Given the description of an element on the screen output the (x, y) to click on. 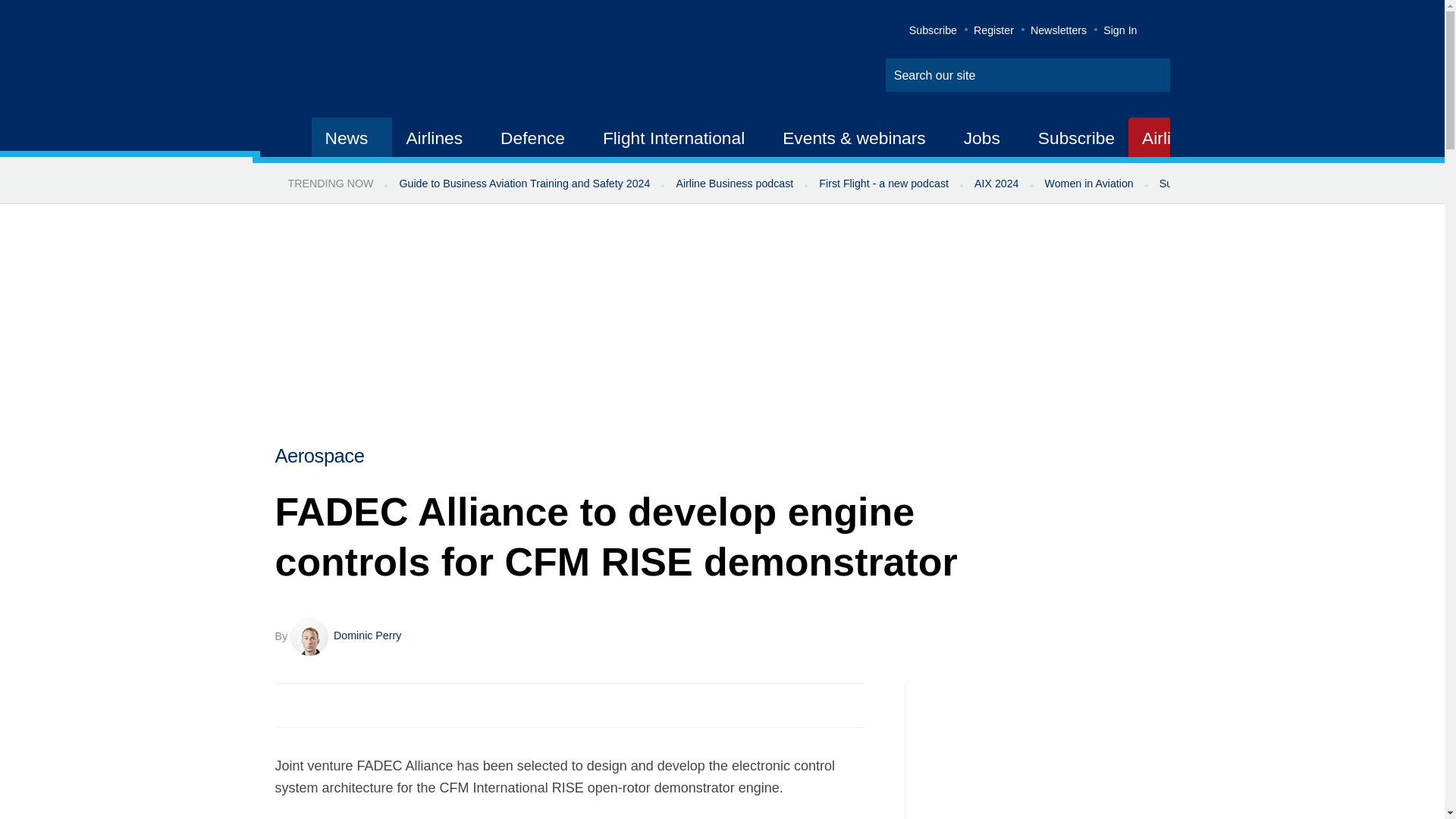
AIX 2024 (996, 183)
Women in Aviation (1089, 183)
Share this on Linked in (352, 705)
Site name (422, 60)
First Flight - a new podcast (883, 183)
Guide to Business Aviation Training and Safety 2024 (523, 183)
Airline Business podcast (734, 183)
Email this article (386, 705)
Share this on Twitter (320, 705)
Sustainable Aviation newsletter (1234, 183)
